Given the description of an element on the screen output the (x, y) to click on. 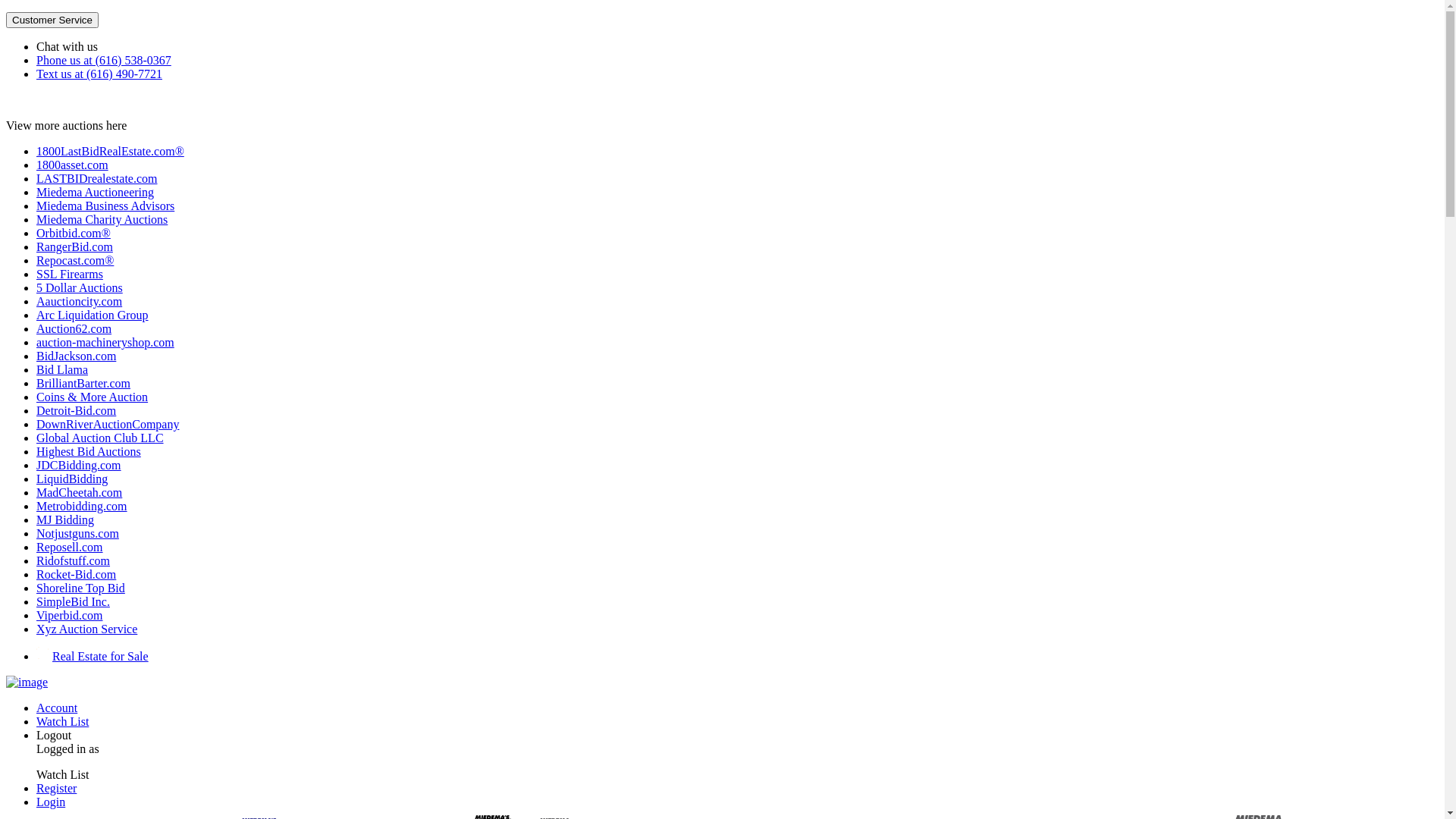
BrilliantBarter.com Element type: text (83, 382)
JDCBidding.com Element type: text (78, 464)
MJ Bidding Element type: text (65, 519)
auction-machineryshop.com Element type: text (105, 341)
Auction62.com Element type: text (73, 328)
1800asset.com Element type: text (72, 164)
LiquidBidding Element type: text (71, 478)
Miedema Auctioneering Element type: text (94, 191)
5 Dollar Auctions Element type: text (79, 287)
Coins & More Auction Element type: text (91, 396)
Rocket-Bid.com Element type: text (76, 573)
Real Estate for Sale Element type: text (92, 655)
LASTBIDrealestate.com Element type: text (96, 178)
Phone us at (616) 538-0367 Element type: text (103, 59)
MadCheetah.com Element type: text (79, 492)
Aauctioncity.com Element type: text (79, 300)
Register Element type: text (56, 787)
SSL Firearms Element type: text (69, 273)
Reposell.com Element type: text (69, 546)
RangerBid.com Element type: text (74, 246)
Arc Liquidation Group Element type: text (92, 314)
Xyz Auction Service Element type: text (86, 628)
Detroit-Bid.com Element type: text (76, 410)
Ridofstuff.com Element type: text (72, 560)
Notjustguns.com Element type: text (77, 533)
SimpleBid Inc. Element type: text (72, 601)
Metrobidding.com Element type: text (81, 505)
Global Auction Club LLC Element type: text (99, 437)
Shoreline Top Bid Element type: text (80, 587)
Watch List Element type: text (62, 774)
DownRiverAuctionCompany Element type: text (107, 423)
Login Element type: text (50, 801)
Bid Llama Element type: text (61, 369)
Logout Element type: text (53, 734)
Text us at (616) 490-7721 Element type: text (99, 73)
Customer Service Element type: text (52, 20)
Account Element type: text (58, 707)
BidJackson.com Element type: text (76, 355)
Miedema Business Advisors Element type: text (105, 205)
Viperbid.com Element type: text (69, 614)
Highest Bid Auctions Element type: text (88, 451)
Watch List Element type: text (62, 721)
Chat with us Element type: text (66, 46)
Miedema Charity Auctions Element type: text (101, 219)
